Given the description of an element on the screen output the (x, y) to click on. 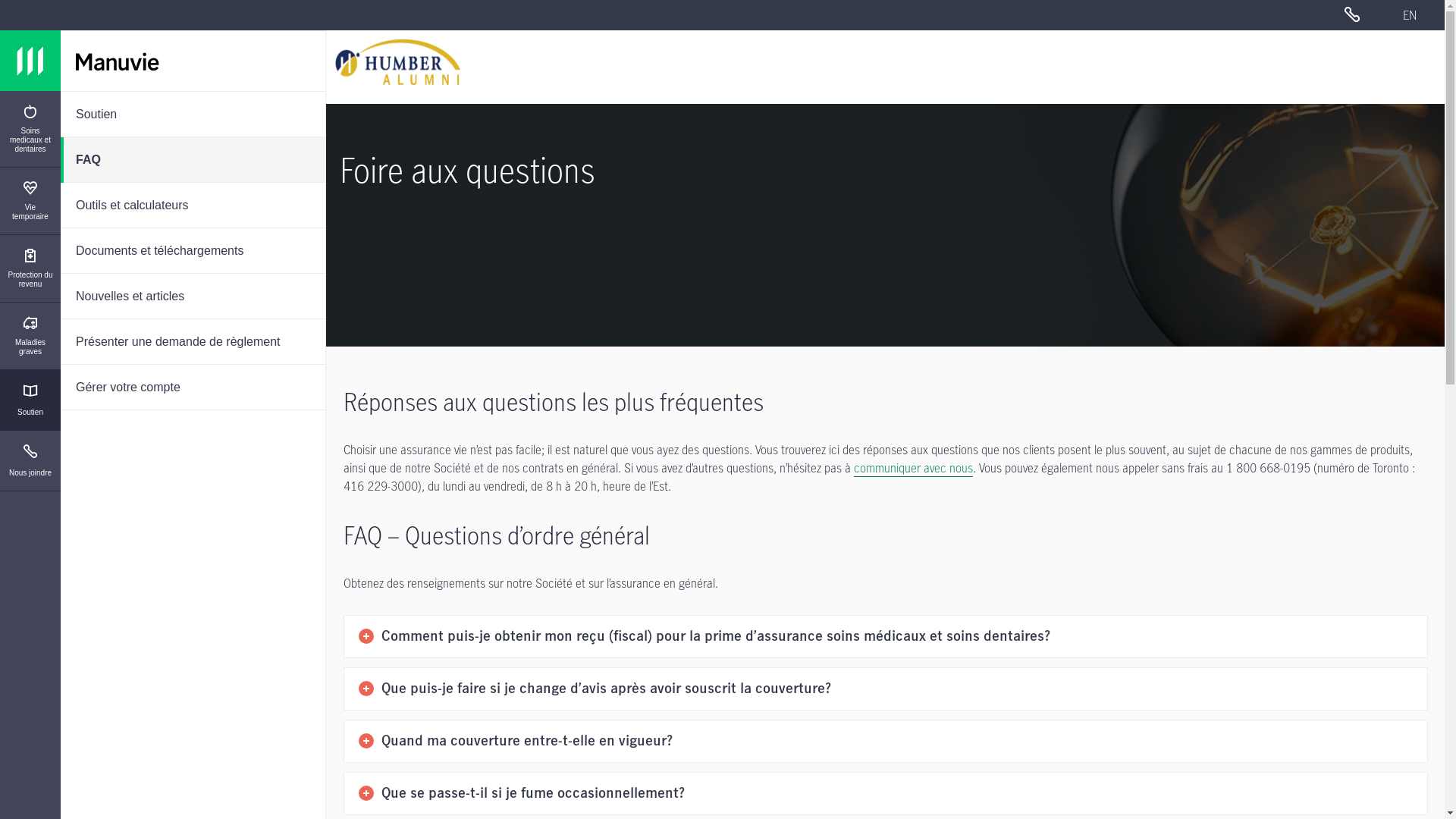
Nous joindre Element type: text (30, 460)
FAQ Element type: text (192, 159)
communiquer avec nous Element type: text (912, 467)
Outils et calculateurs Element type: text (192, 205)
Vie temporaire Element type: text (30, 201)
Que se passe-t-il si je fume occasionnellement? Element type: text (885, 793)
Protection du revenu Element type: text (30, 268)
Quand ma couverture entre-t-elle en vigueur? Element type: text (885, 741)
Soins medicaux et dentaires Element type: text (30, 129)
EN Element type: text (1410, 15)
Soutien Element type: text (192, 114)
Nouvelles et articles Element type: text (192, 296)
Soutien Element type: text (30, 400)
Maladies graves Element type: text (30, 336)
